Given the description of an element on the screen output the (x, y) to click on. 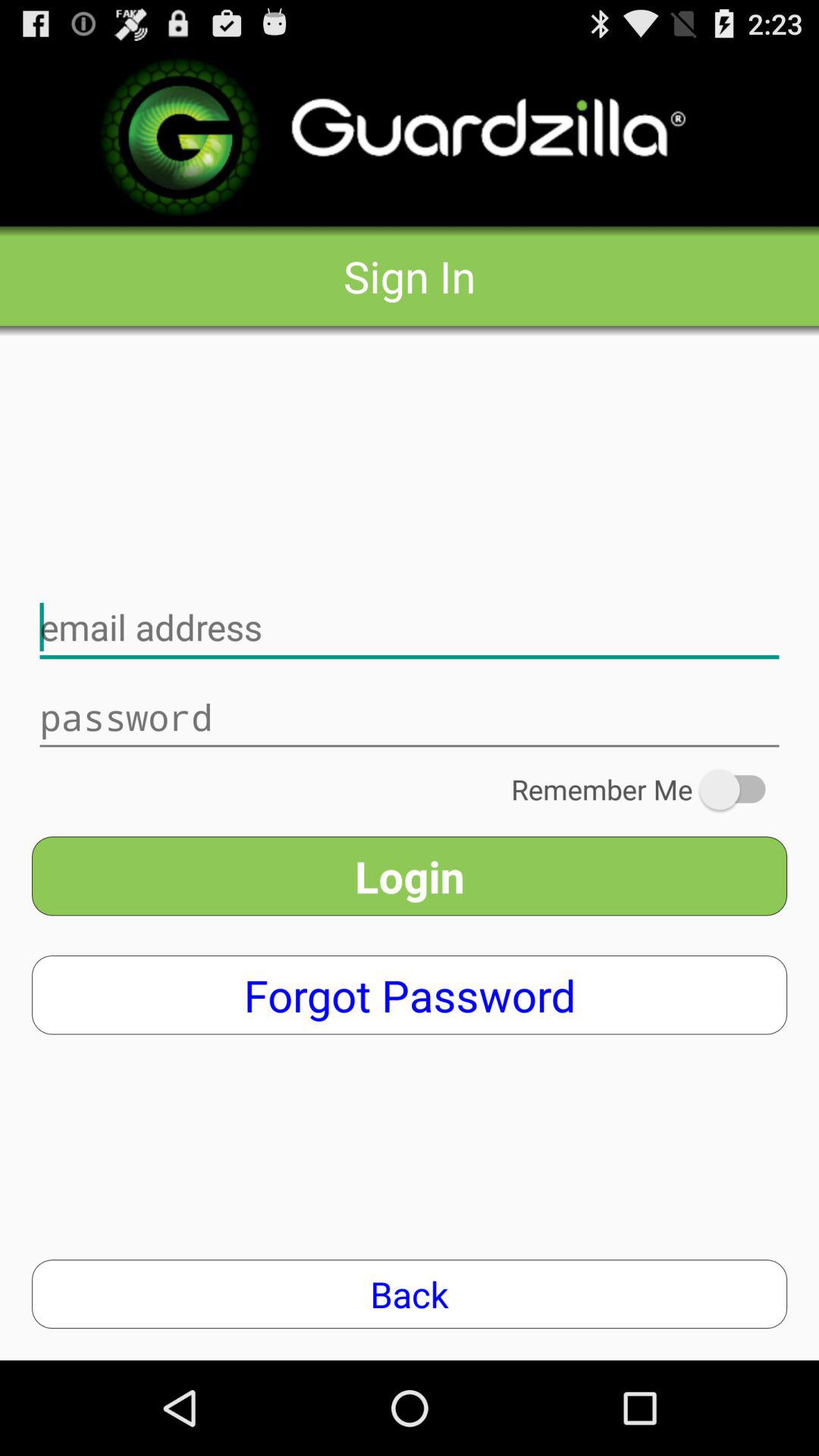
jump until the login app (409, 875)
